Given the description of an element on the screen output the (x, y) to click on. 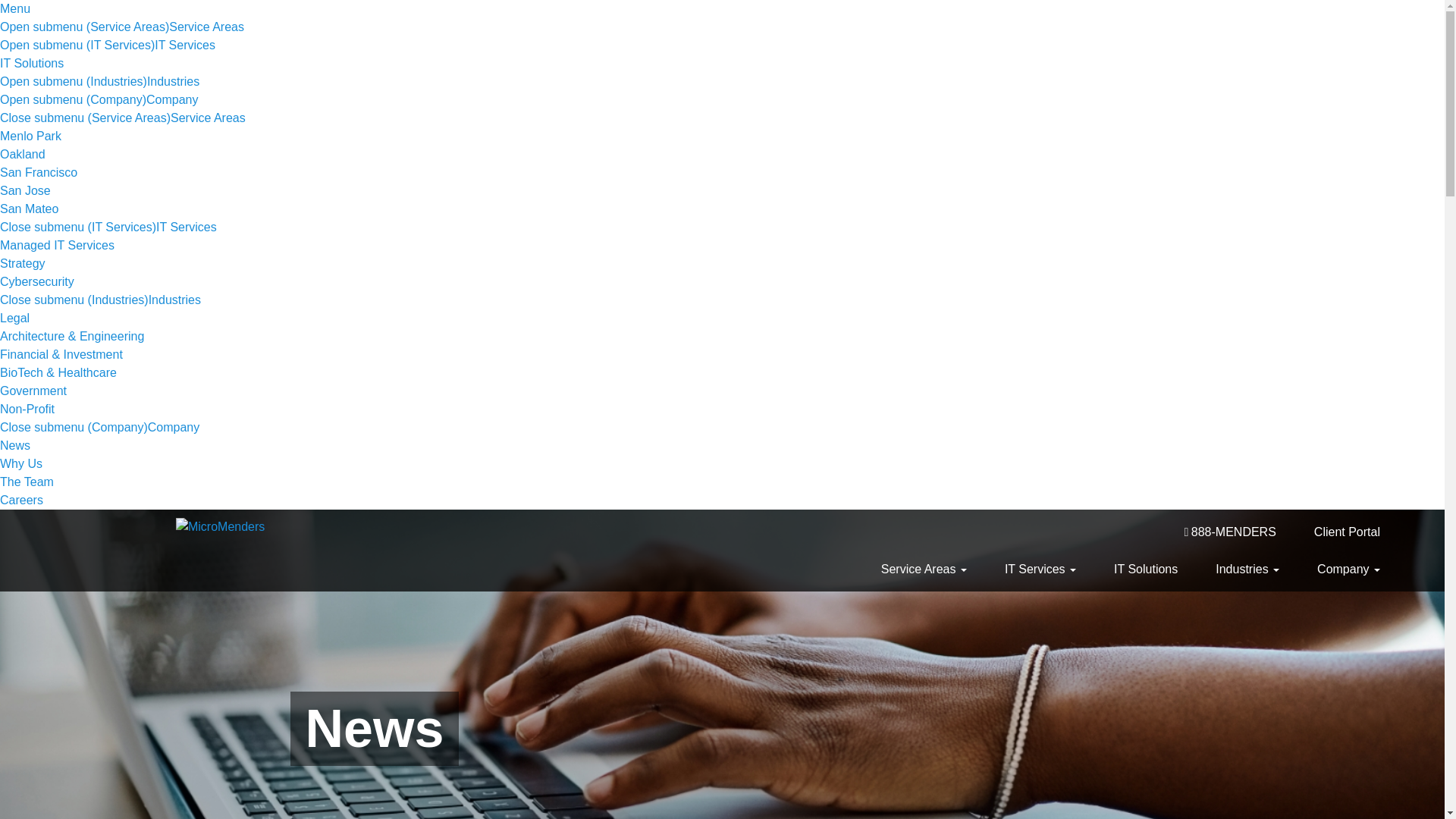
Why Us (21, 463)
Cybersecurity (37, 281)
Service Areas (208, 117)
IT Services (185, 226)
IT Solutions (32, 62)
San Jose (25, 190)
888-MENDERS (1229, 531)
Industries (174, 299)
San Francisco (38, 172)
The Team (26, 481)
Careers (21, 499)
Menlo Park (30, 135)
Managed IT Services (57, 245)
Non-Profit (27, 408)
Legal (14, 318)
